Given the description of an element on the screen output the (x, y) to click on. 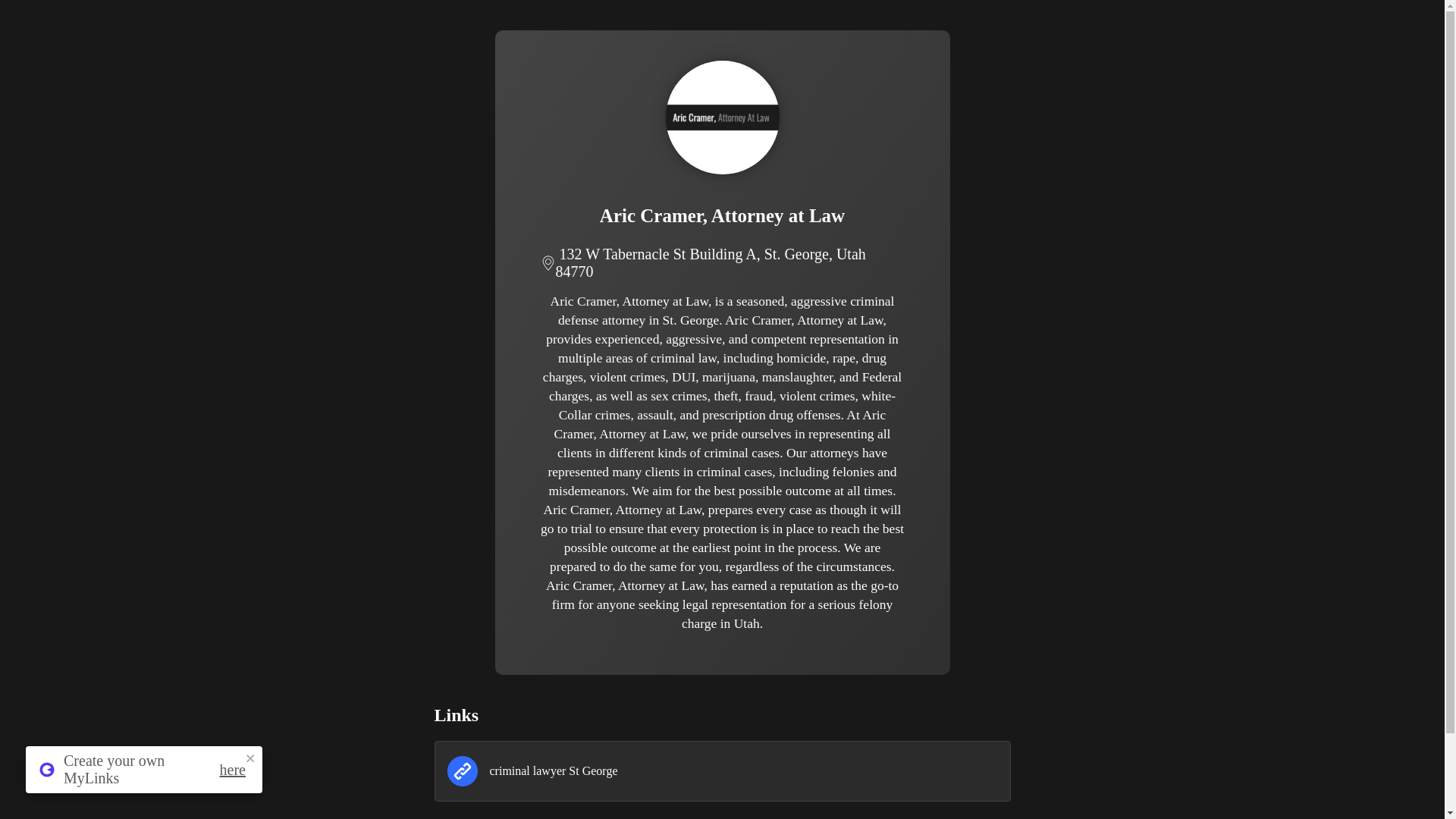
criminal lawyer St George (721, 771)
